Given the description of an element on the screen output the (x, y) to click on. 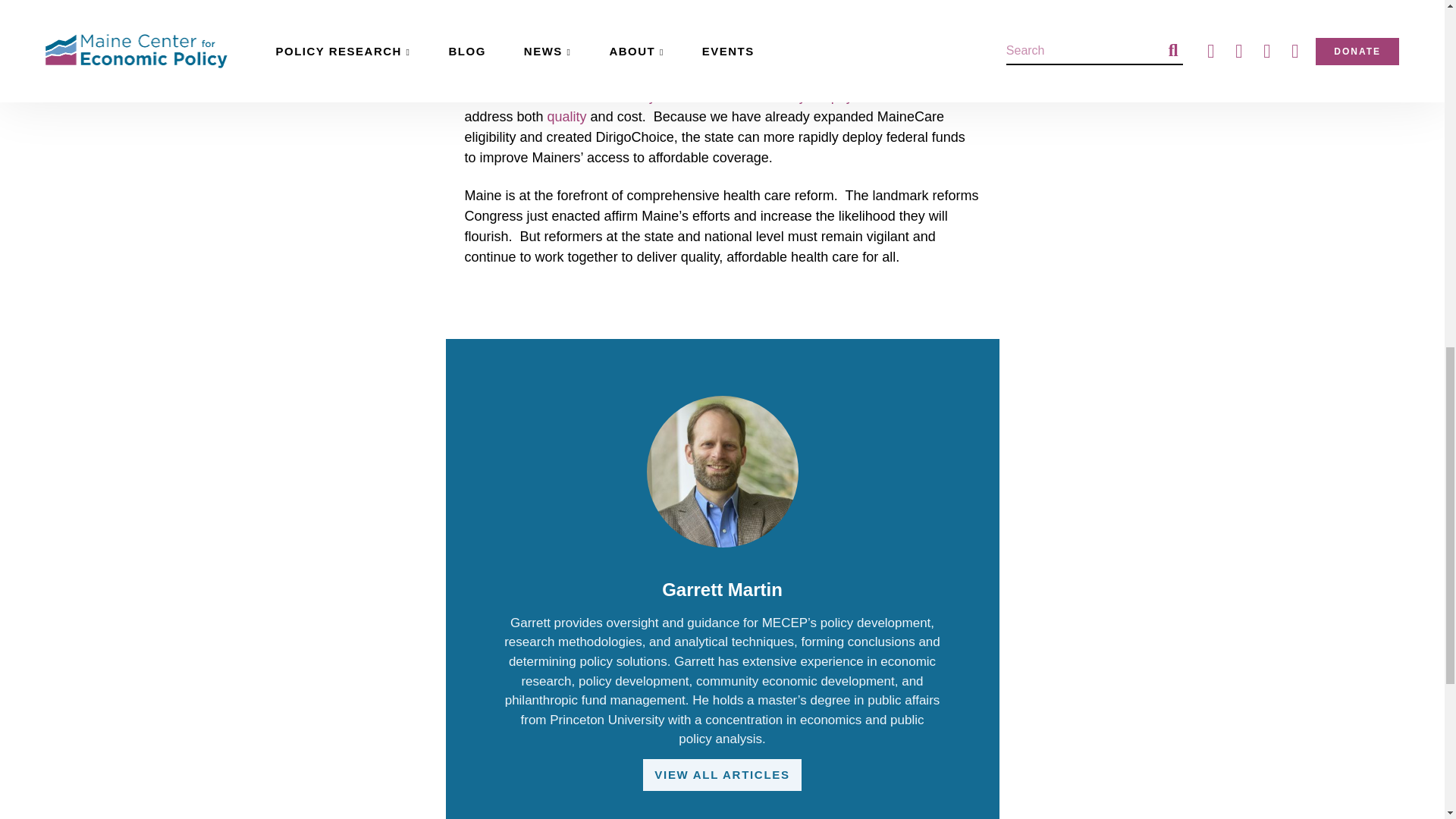
Health Infonet (629, 96)
Maine Quality Forum (566, 116)
Maine General Payment Model (786, 96)
Advisory Council for Health Systems Development (930, 75)
